Given the description of an element on the screen output the (x, y) to click on. 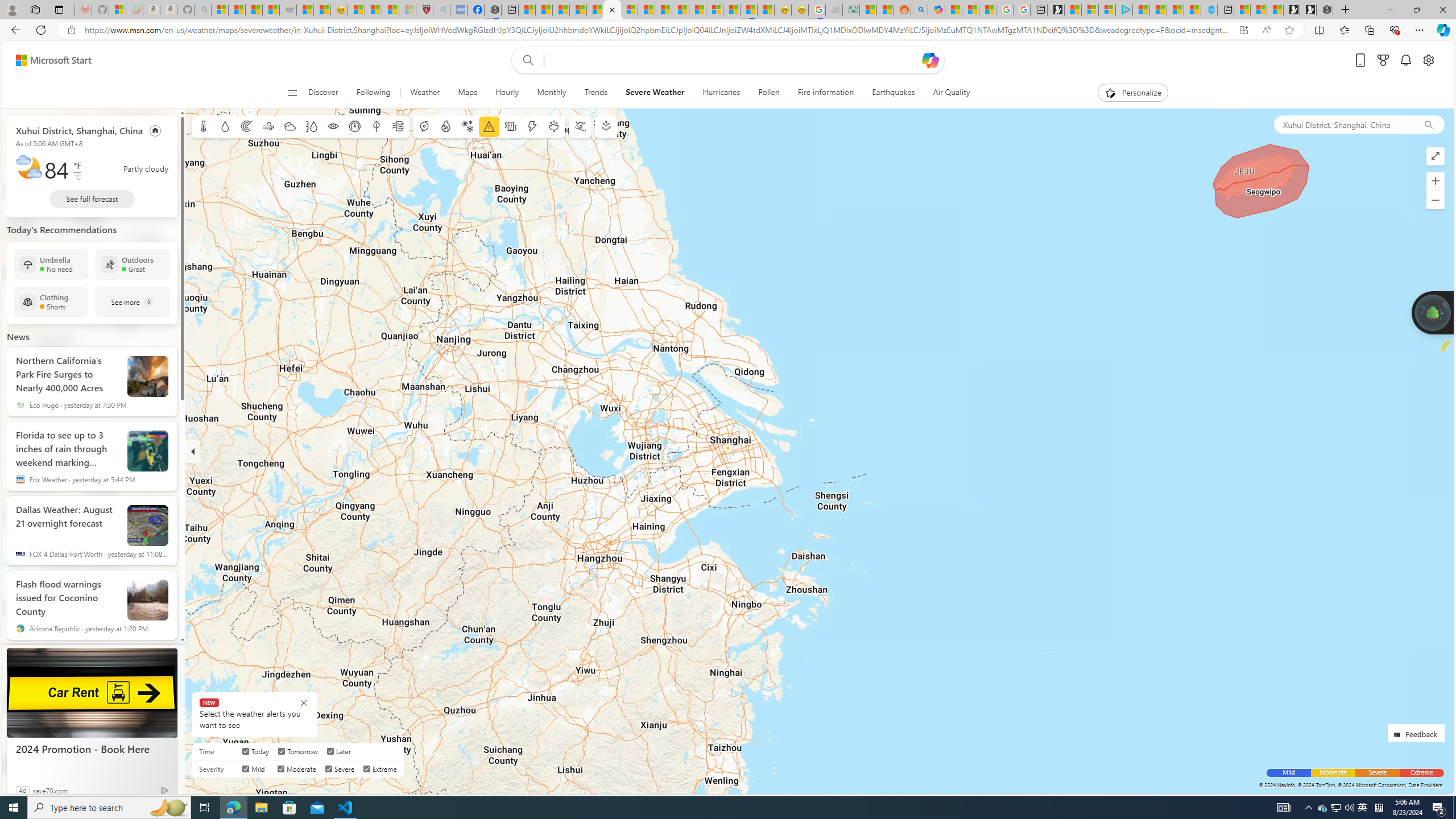
Fire information (445, 126)
Enter full screen mode (1435, 156)
Eco Hugo (20, 404)
Pollen (553, 126)
